Given the description of an element on the screen output the (x, y) to click on. 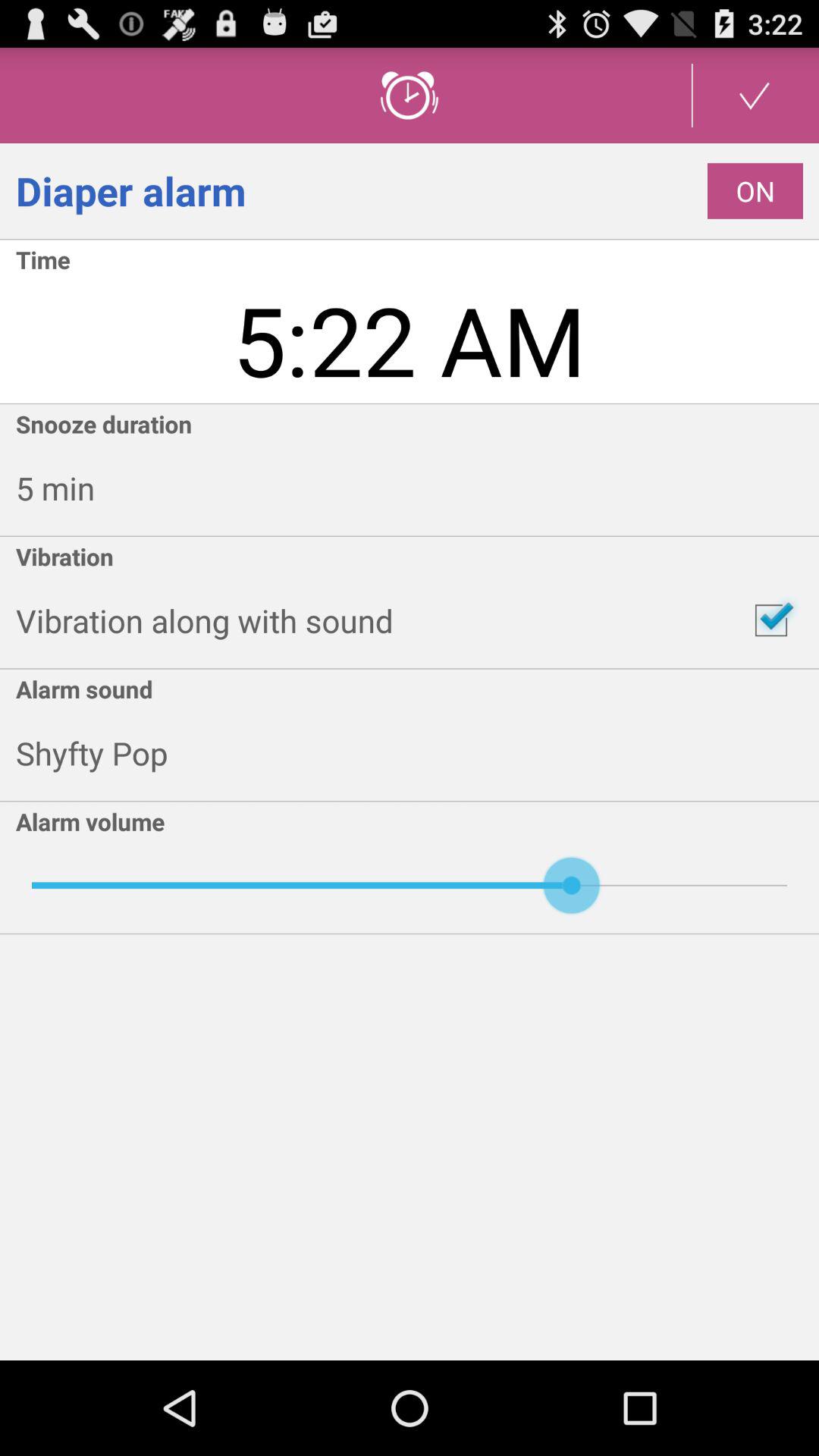
open the icon above on item (755, 95)
